Given the description of an element on the screen output the (x, y) to click on. 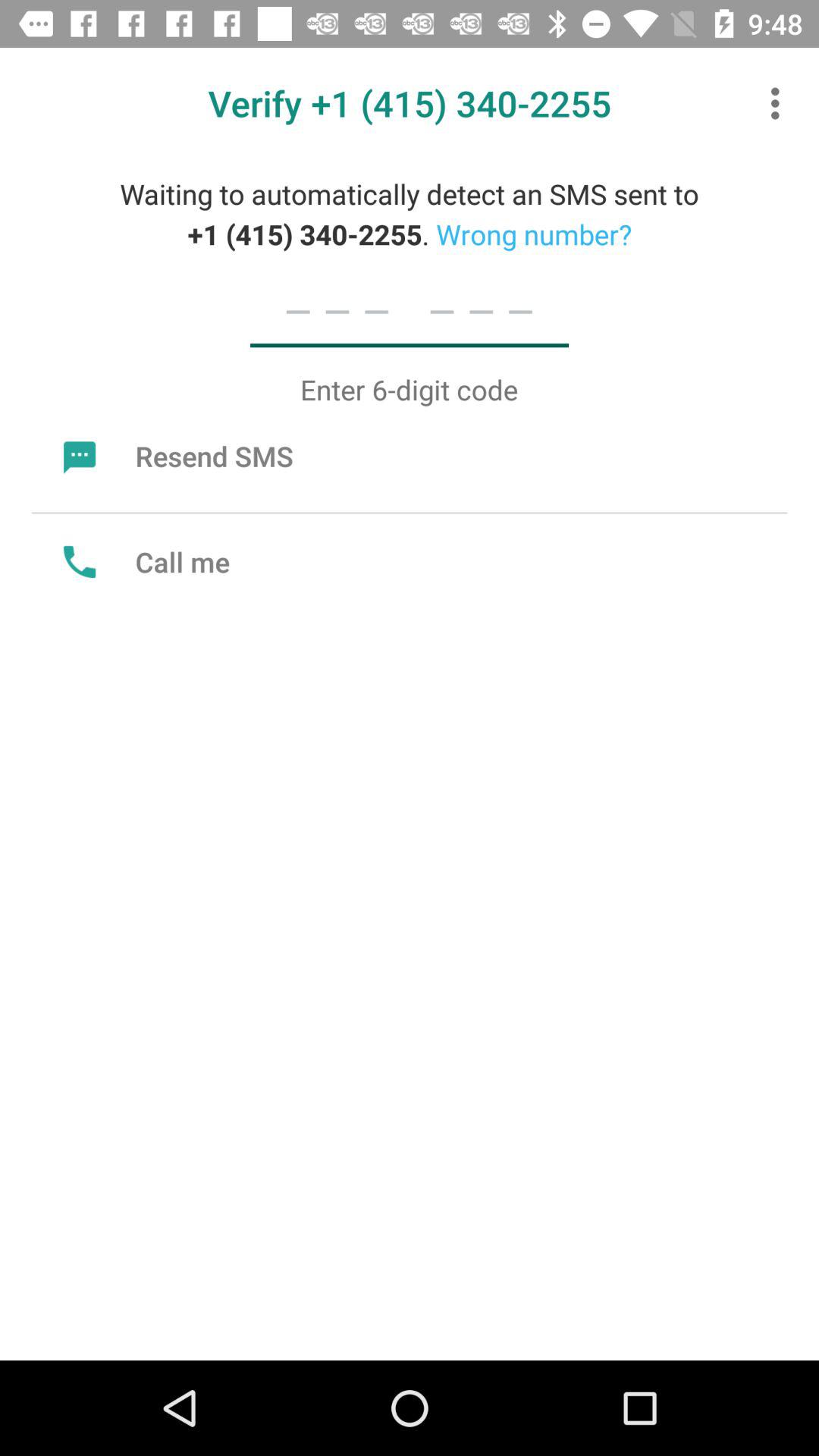
turn on resend sms (174, 455)
